Given the description of an element on the screen output the (x, y) to click on. 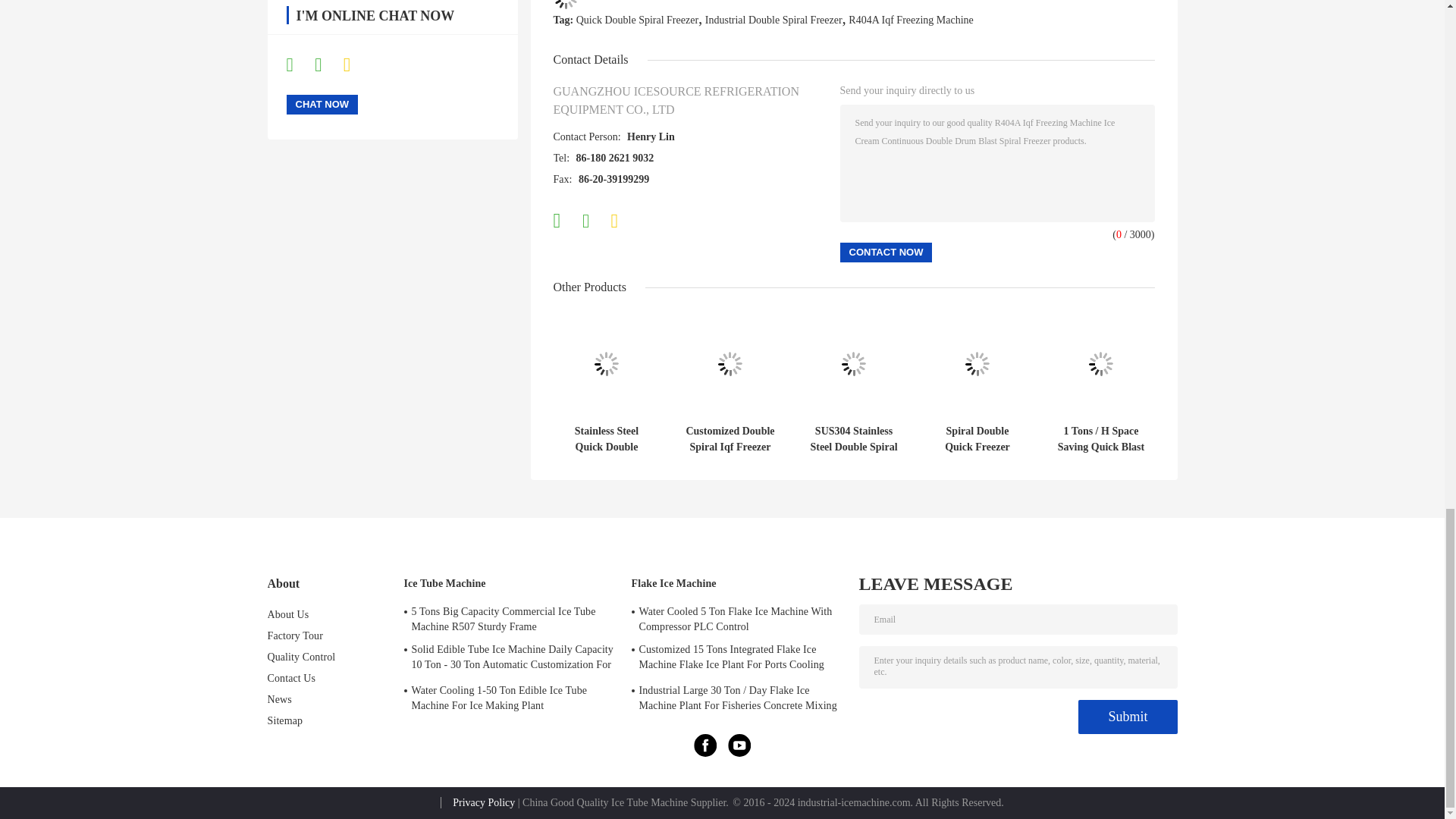
Contact Now (886, 252)
Chat Now (322, 104)
Submit (1127, 716)
